Given the description of an element on the screen output the (x, y) to click on. 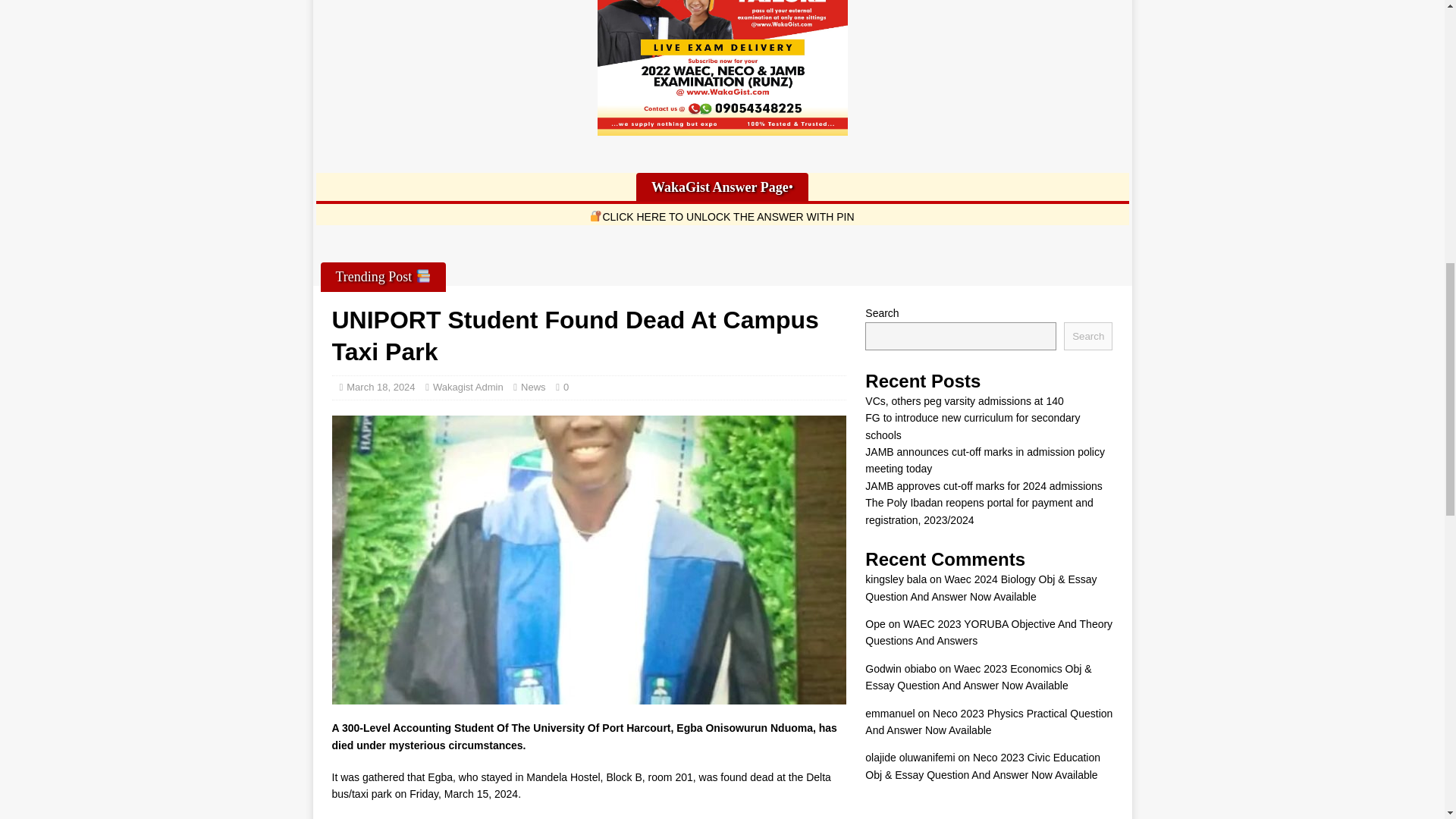
JAMB approves cut-off marks for 2024 admissions (983, 485)
wakagist (721, 67)
FG to introduce new curriculum for secondary schools (972, 425)
Search (1088, 335)
News (533, 387)
March 18, 2024 (380, 387)
Wakagist Admin (467, 387)
VCs, others peg varsity admissions at 140 (963, 400)
kingsley bala (895, 579)
CLICK HERE TO UNLOCK THE ANSWER WITH PIN (721, 216)
